Given the description of an element on the screen output the (x, y) to click on. 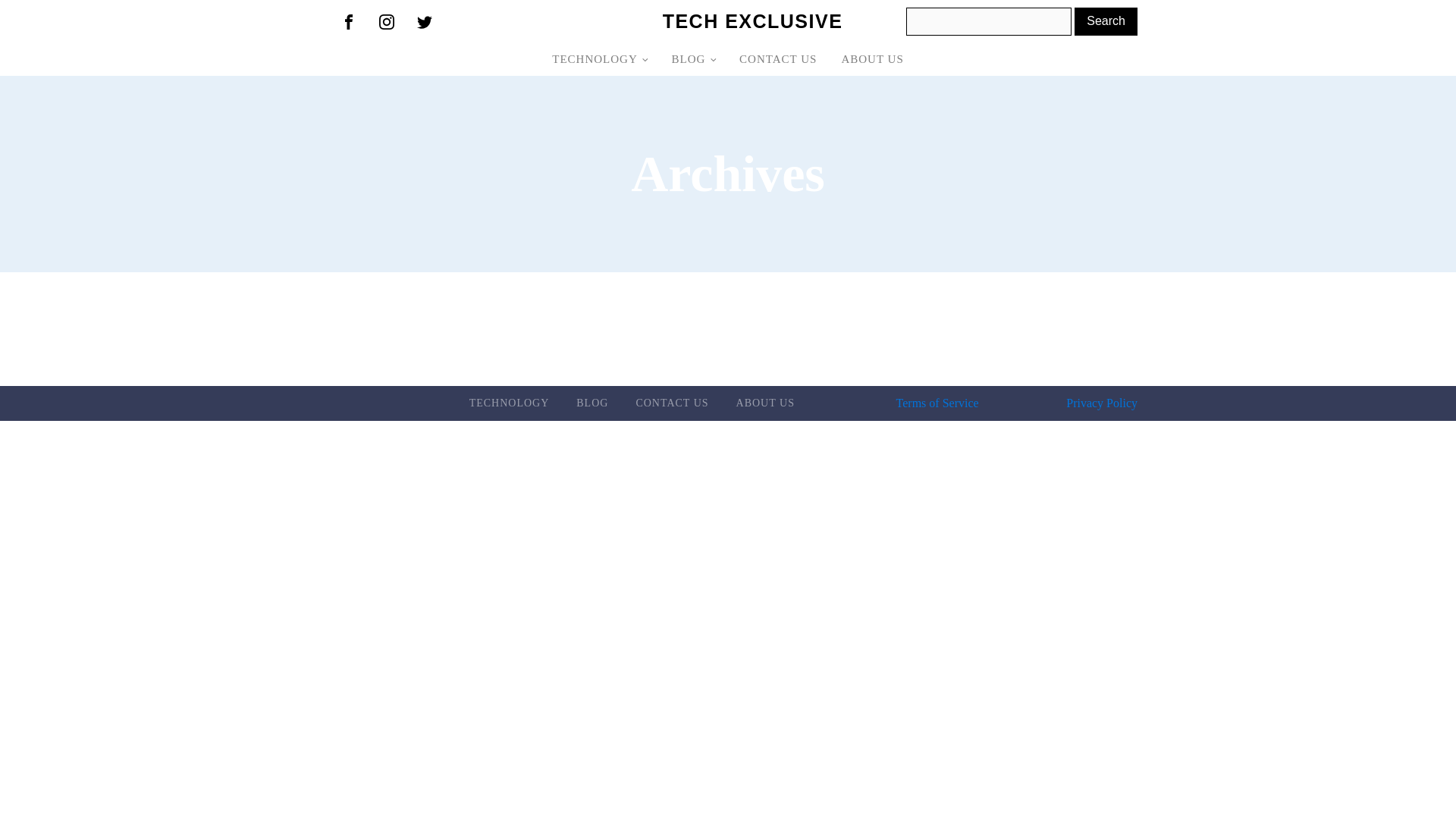
ABOUT US (765, 402)
TECHNOLOGY (509, 402)
Privacy Policy (1101, 403)
BLOG (591, 402)
Terms of Service (937, 403)
CONTACT US (777, 59)
Search (1105, 21)
TECH EXCLUSIVE (752, 21)
TECHNOLOGY (599, 59)
CONTACT US (671, 402)
